Given the description of an element on the screen output the (x, y) to click on. 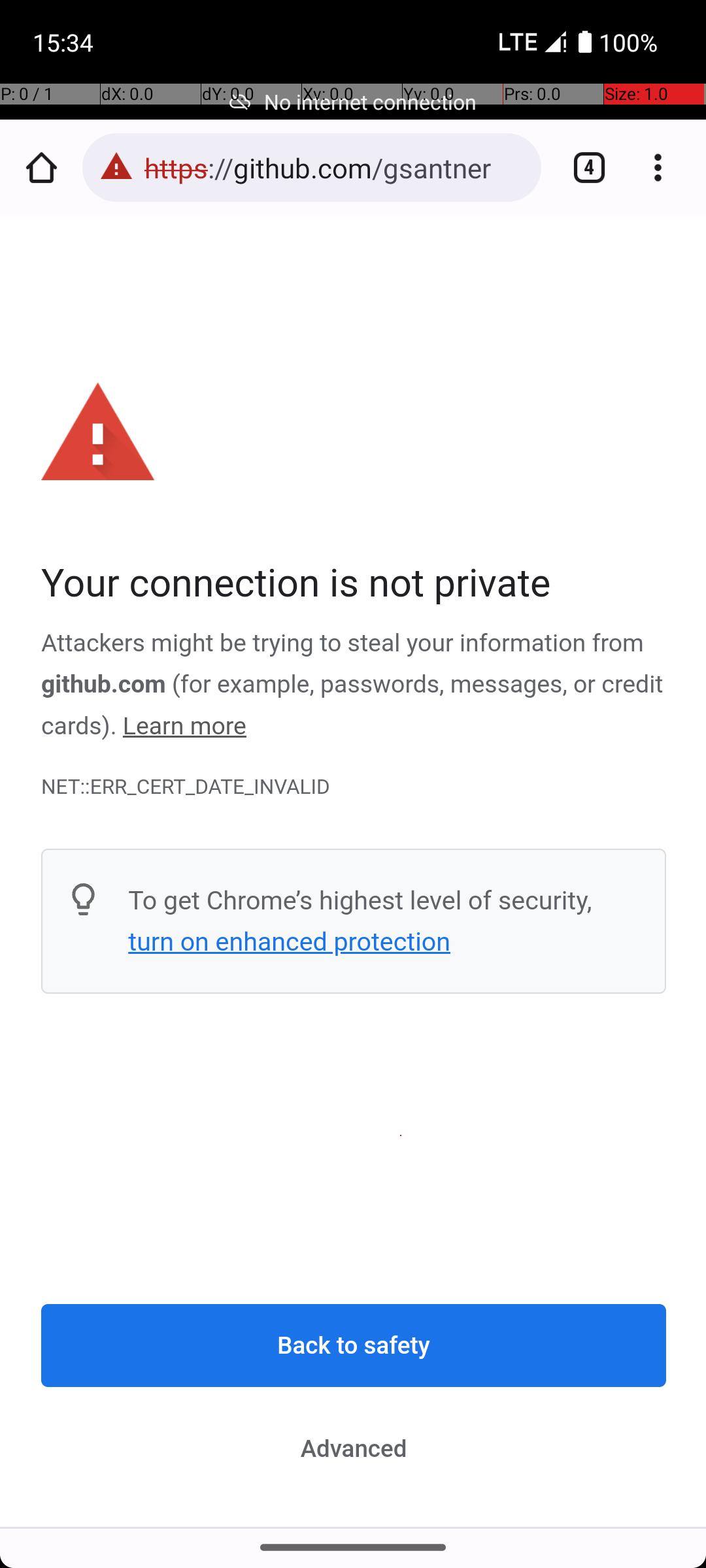
https://github.com/gsantner Element type: android.widget.EditText (335, 167)
